Given the description of an element on the screen output the (x, y) to click on. 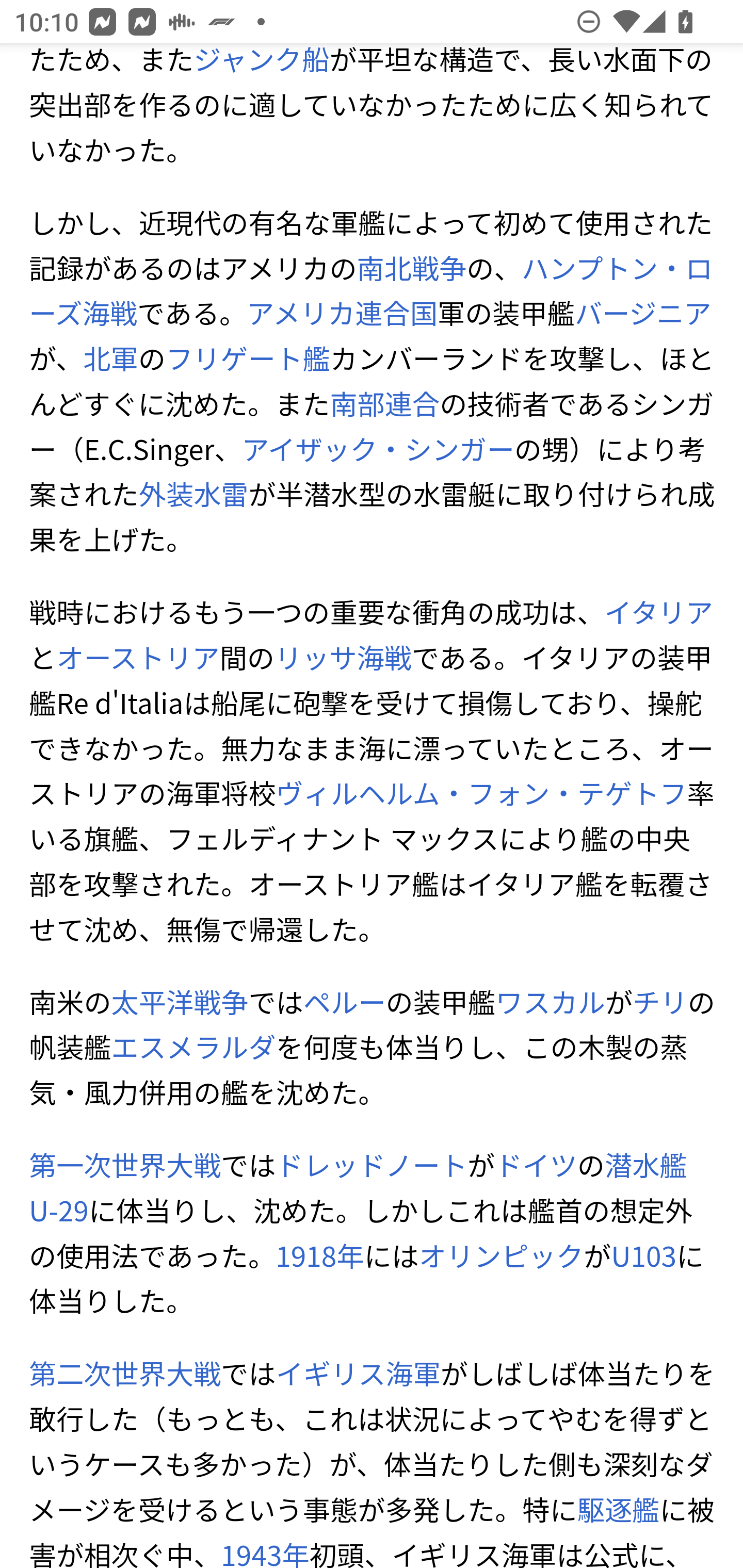
ジャンク船 (261, 62)
ハンプトン・ローズ海戦 (370, 291)
南北戦争 (411, 267)
アメリカ連合国 (341, 314)
バージニア (643, 314)
北軍 (110, 359)
フリゲート艦 (248, 359)
南部連合 (384, 404)
アイザック・シンガー (376, 449)
外装水雷 (192, 495)
イタリア (658, 612)
オーストリア (137, 657)
リッサ海戦 (343, 657)
ヴィルヘルム・フォン・テゲトフ (481, 794)
太平洋戦争 (178, 1002)
ペルー (343, 1002)
ワスカル (550, 1002)
チリ (660, 1002)
エスメラルダ (192, 1048)
第一次世界大戦 (125, 1166)
ドレッドノート (370, 1166)
ドイツ (536, 1166)
潜水艦 (645, 1166)
U-29 (59, 1211)
1918年 (319, 1256)
オリンピック (500, 1256)
U103 (643, 1256)
第二次世界大戦 (125, 1374)
イギリス海軍 (358, 1374)
駆逐艦 (618, 1509)
1943年 (265, 1551)
